Given the description of an element on the screen output the (x, y) to click on. 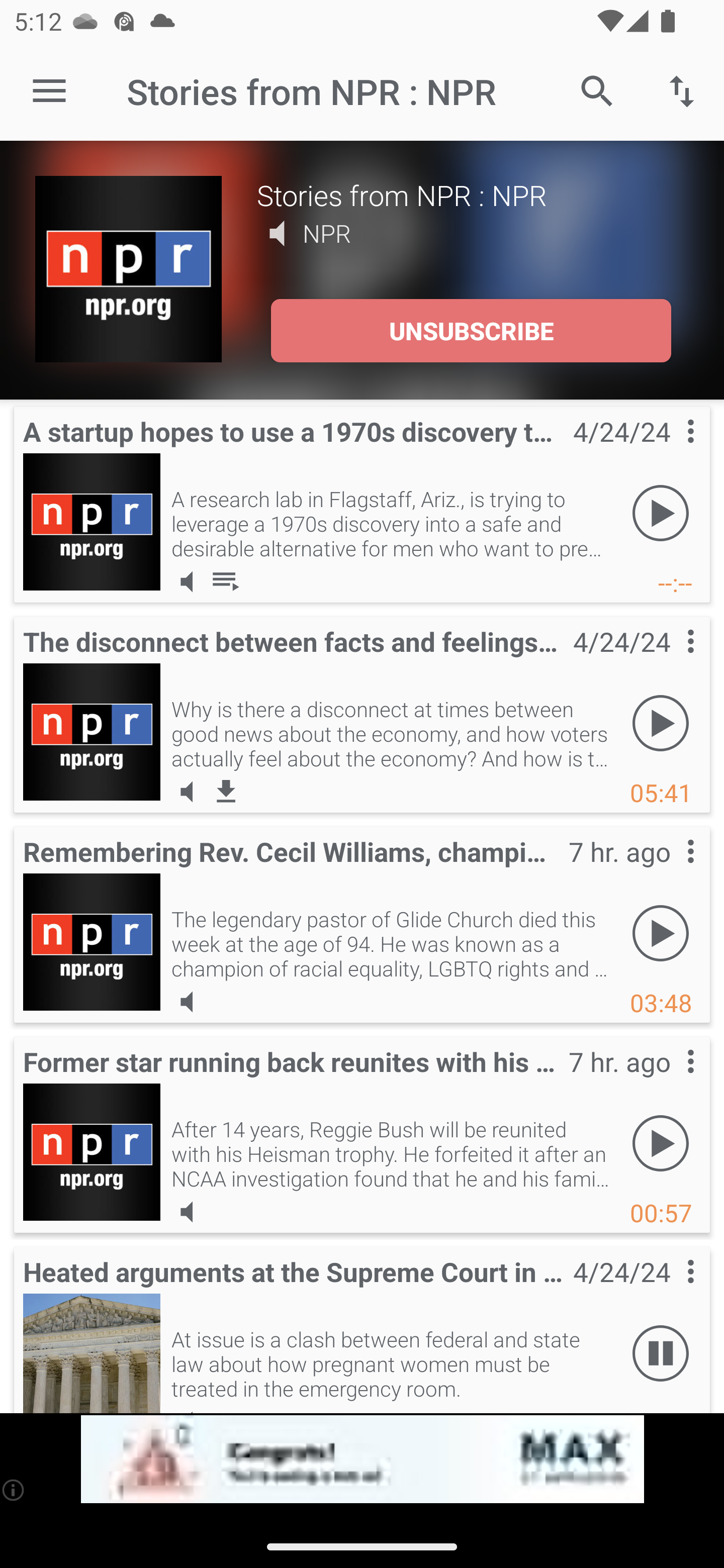
Open navigation sidebar (49, 91)
Search (597, 90)
Sort (681, 90)
UNSUBSCRIBE (470, 330)
Contextual menu (668, 451)
Play (660, 513)
Contextual menu (668, 661)
Play (660, 723)
Contextual menu (668, 870)
Play (660, 933)
Contextual menu (668, 1080)
Play (660, 1143)
Contextual menu (668, 1290)
Pause (660, 1353)
app-monetization (362, 1459)
(i) (14, 1489)
